Given the description of an element on the screen output the (x, y) to click on. 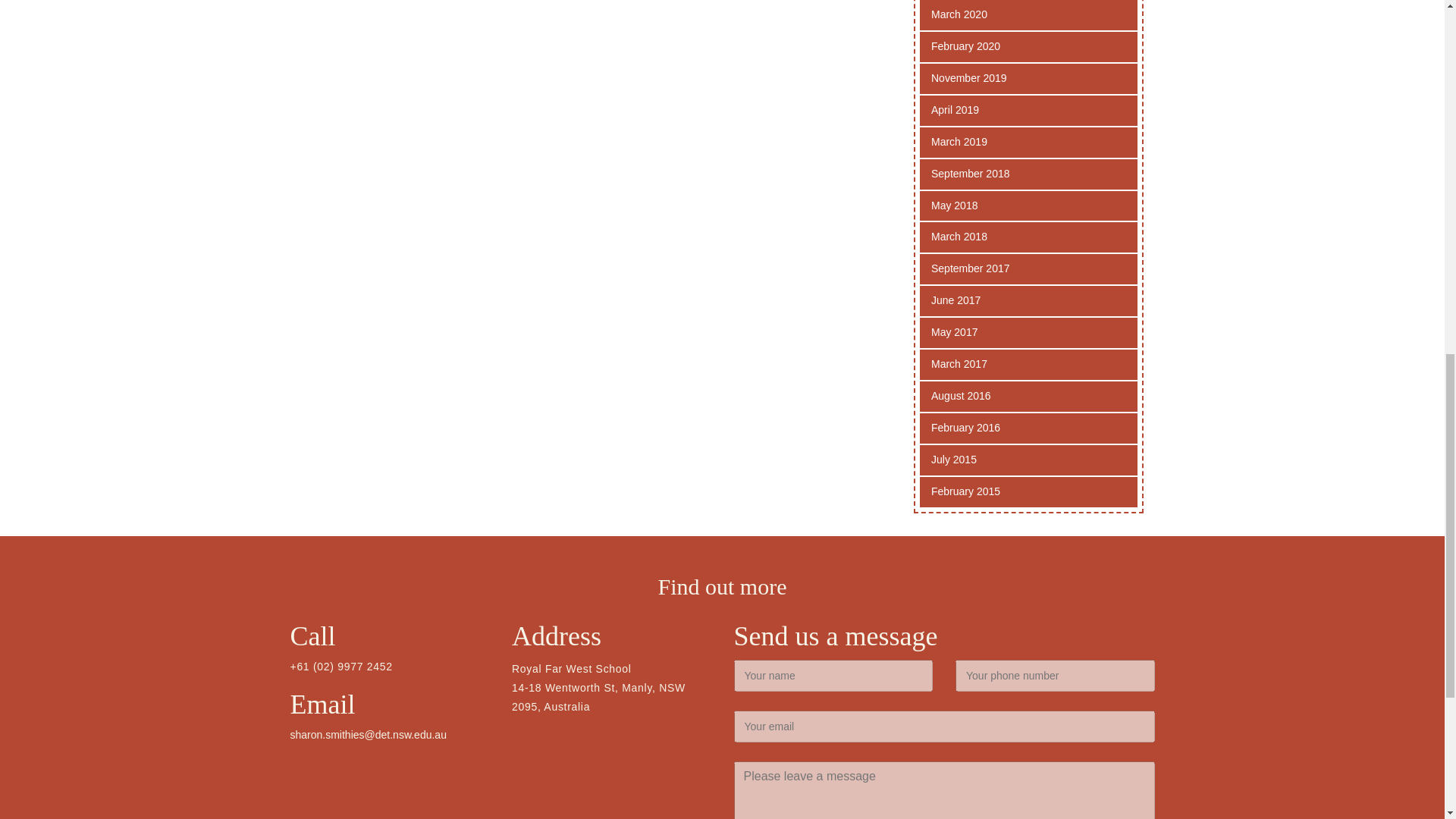
November 2019 (1028, 78)
March 2017 (1028, 364)
May 2017 (1028, 332)
February 2015 (1028, 491)
June 2017 (1028, 300)
February 2020 (1028, 46)
September 2017 (1028, 268)
March 2019 (1028, 142)
May 2018 (1028, 205)
March 2020 (1028, 15)
